Given the description of an element on the screen output the (x, y) to click on. 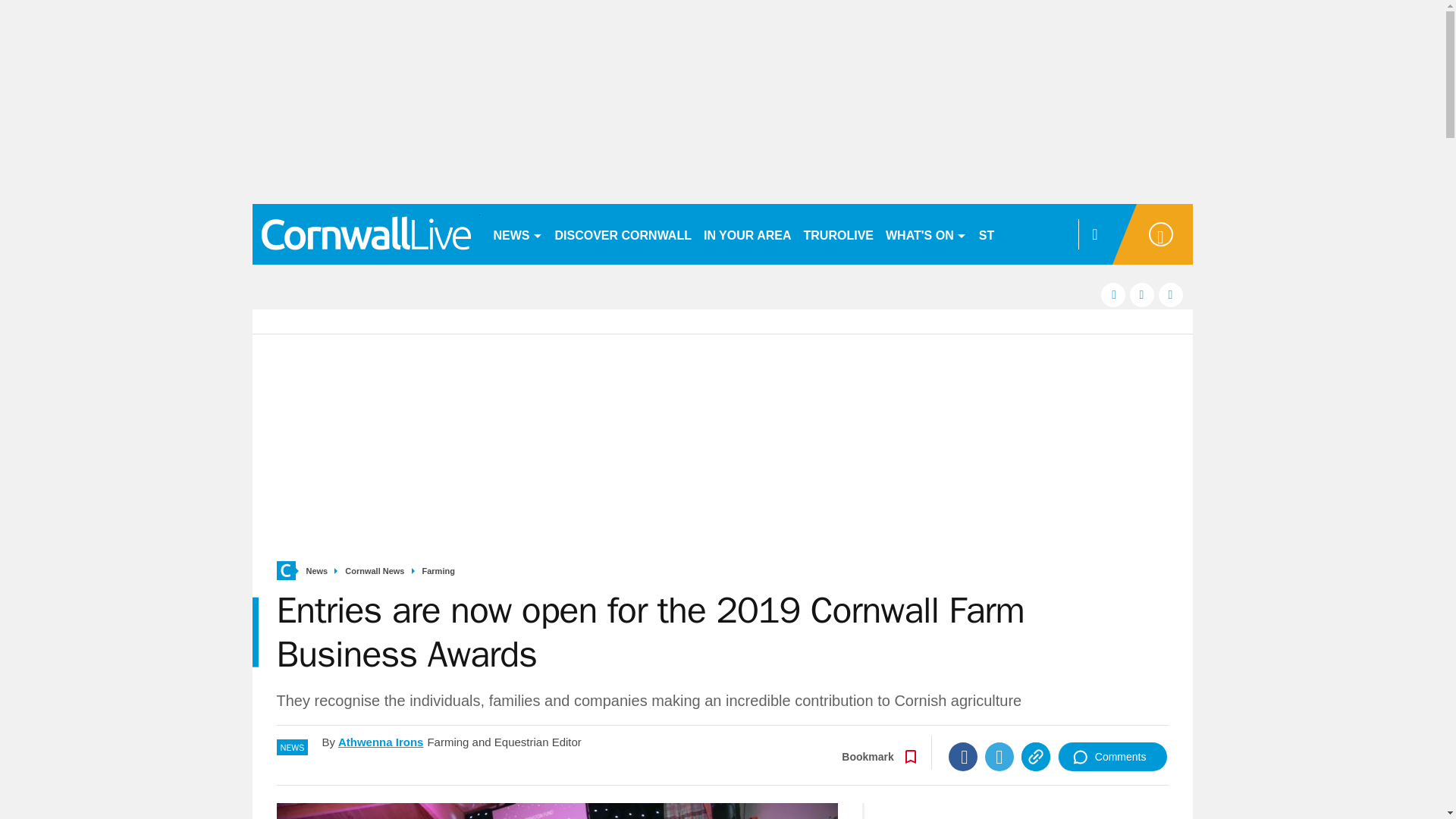
IN YOUR AREA (747, 233)
ST AUSTELL (1015, 233)
NEWS (517, 233)
facebook (1112, 294)
DISCOVER CORNWALL (622, 233)
instagram (1170, 294)
twitter (1141, 294)
Twitter (999, 756)
Facebook (962, 756)
WHAT'S ON (925, 233)
